Given the description of an element on the screen output the (x, y) to click on. 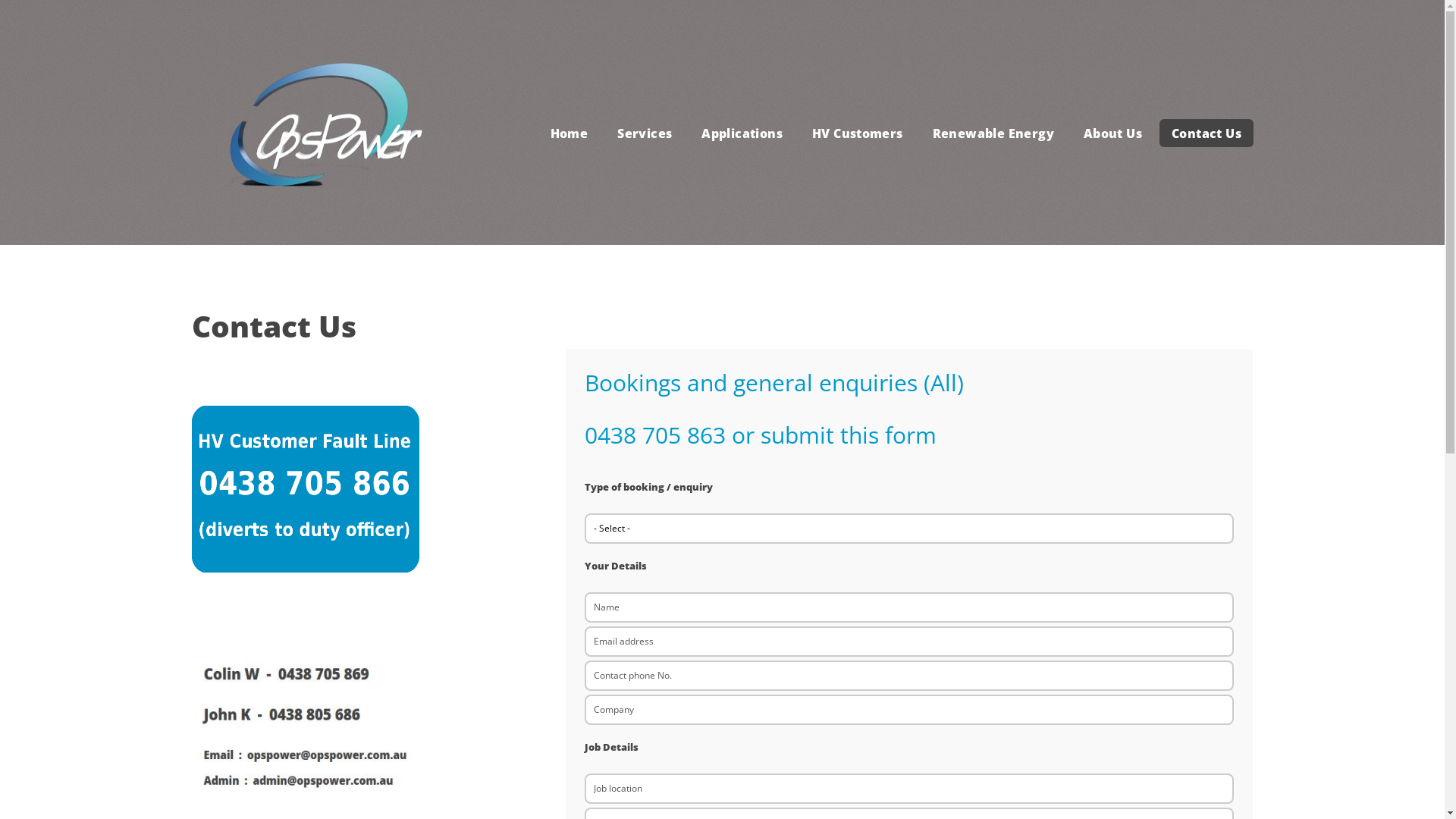
Contact Us Element type: text (1205, 133)
Services Element type: text (644, 133)
HV Customers Element type: text (857, 133)
About Us Element type: text (1112, 133)
Home Element type: text (568, 133)
Renewable Energy Element type: text (992, 133)
Applications Element type: text (742, 133)
